Given the description of an element on the screen output the (x, y) to click on. 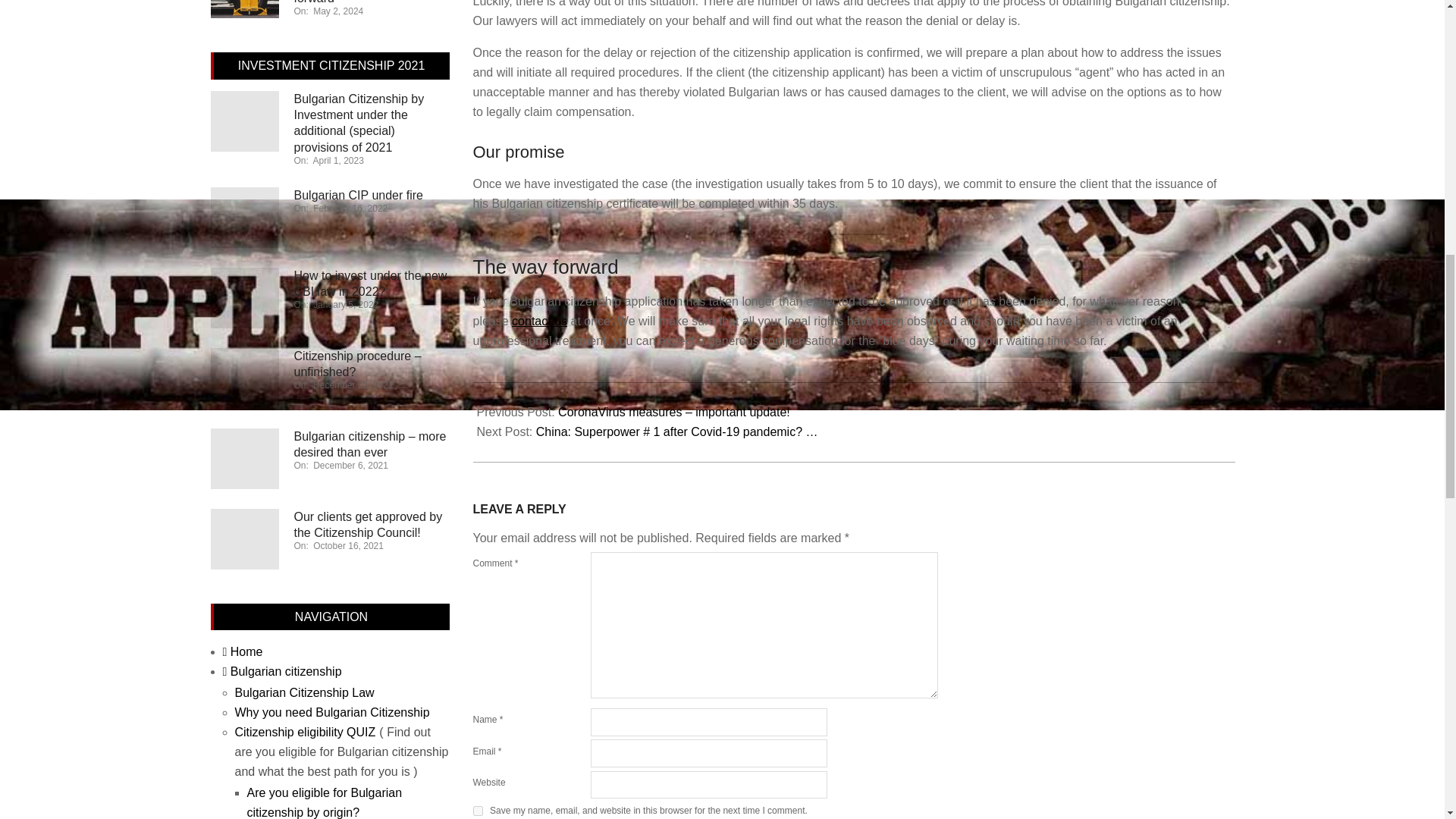
yes (478, 810)
Thursday, May 2, 2024, 12:03 pm (337, 10)
Saturday, April 1, 2023, 7:29 pm (338, 160)
Monday, December 20, 2021, 8:52 pm (353, 385)
Wednesday, January 5, 2022, 11:19 am (345, 304)
Saturday, October 16, 2021, 11:42 am (348, 545)
Wednesday, February 16, 2022, 12:13 pm (350, 208)
Monday, December 6, 2021, 12:24 am (350, 465)
